Given the description of an element on the screen output the (x, y) to click on. 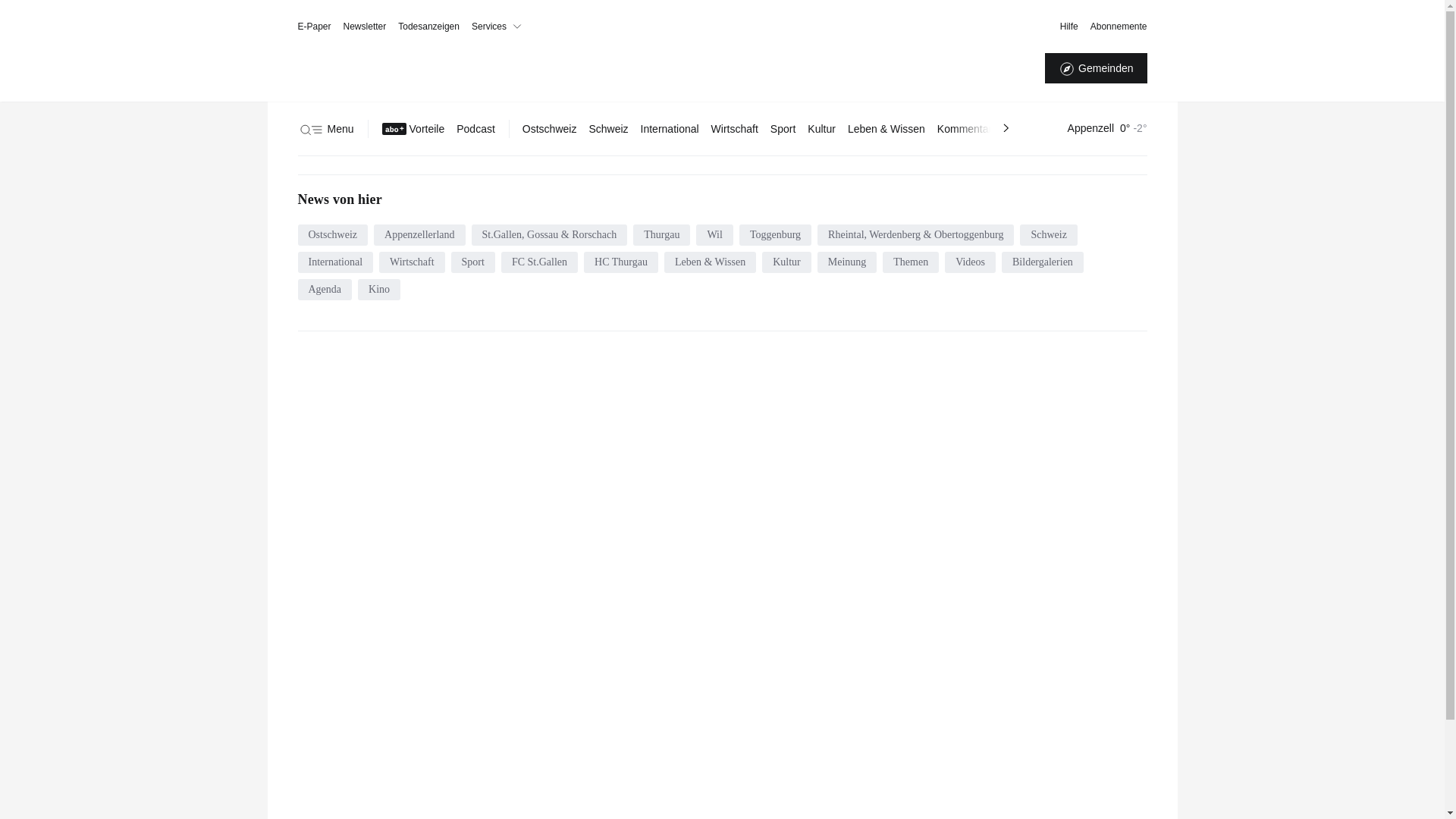
International Element type: text (335, 262)
Newsletter Element type: text (364, 26)
Thurgau Element type: text (661, 234)
Podcast Element type: text (475, 128)
Appenzellerland Element type: text (419, 234)
St.Gallen, Gossau & Rorschach Element type: text (549, 234)
Sport Element type: text (473, 262)
Todesanzeigen Element type: text (428, 26)
Rheintal, Werdenberg & Obertoggenburg Element type: text (915, 234)
Toggenburg Element type: text (775, 234)
Gemeinden Element type: text (1095, 68)
Kommentare Element type: text (967, 128)
Kultur Element type: text (786, 262)
Themen Element type: text (910, 262)
Schweiz Element type: text (607, 128)
Services Element type: text (499, 26)
Meinung Element type: text (847, 262)
Ostschweiz Element type: text (549, 128)
International Element type: text (669, 128)
Leben & Wissen Element type: text (710, 262)
Bildergalerien Element type: text (1042, 262)
Kino Element type: text (378, 289)
Kultur Element type: text (821, 128)
HC Thurgau Element type: text (620, 262)
Ostschweiz Element type: text (332, 234)
Leben & Wissen Element type: text (886, 128)
Hilfe Element type: text (1069, 26)
E-Paper Element type: text (313, 26)
Sport Element type: text (782, 128)
Abonnemente Element type: text (1118, 26)
Wil Element type: text (714, 234)
Wirtschaft Element type: text (412, 262)
Menu Element type: text (325, 128)
Wirtschaft Element type: text (734, 128)
FC St.Gallen Element type: text (539, 262)
Vorteile Element type: text (413, 128)
Videos Element type: text (969, 262)
Schweiz Element type: text (1047, 234)
Agenda Element type: text (324, 289)
